Given the description of an element on the screen output the (x, y) to click on. 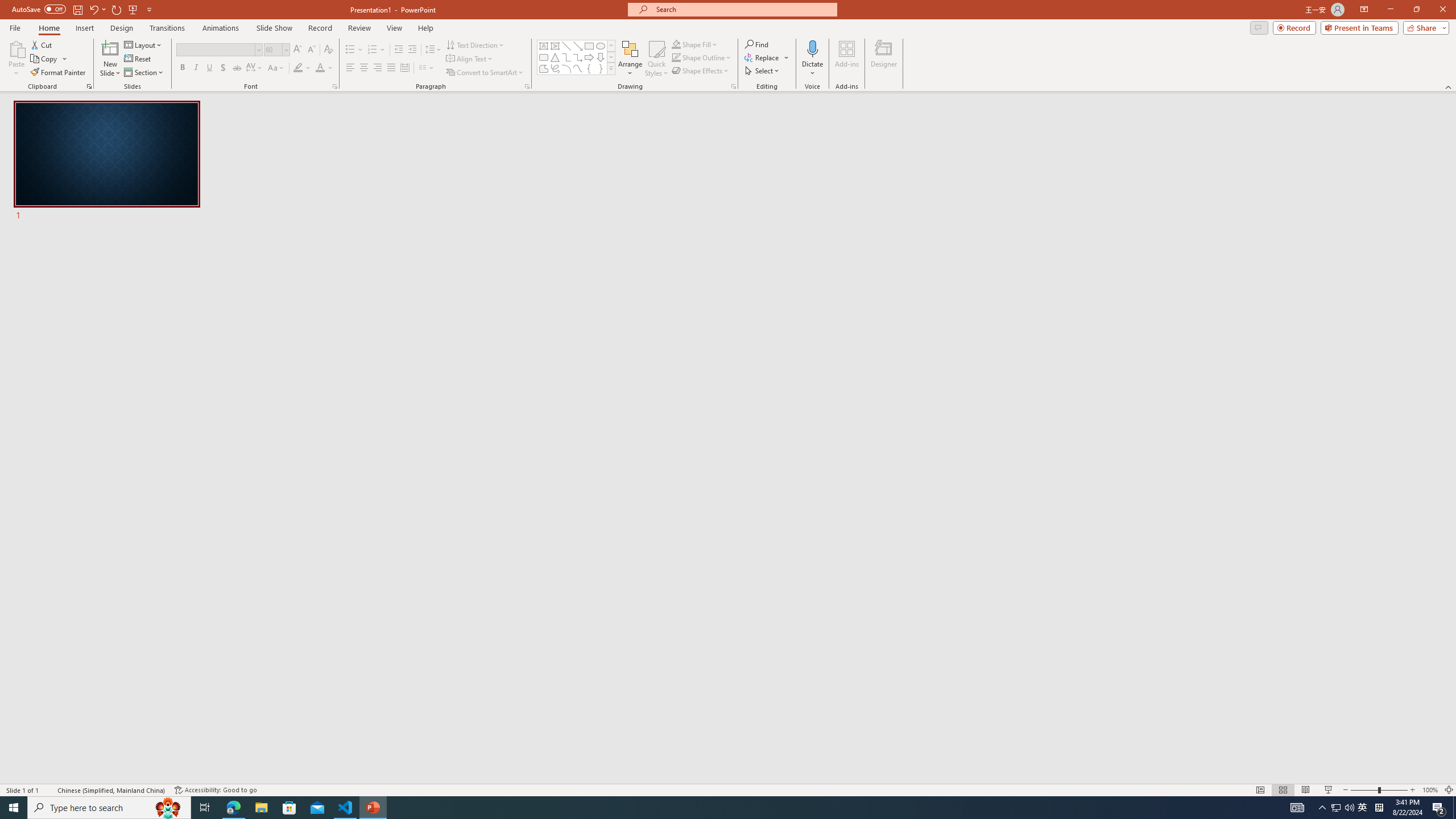
Change Case (276, 67)
Paragraph... (526, 85)
Convert to SmartArt (485, 72)
Text Highlight Color Yellow (297, 67)
Spell Check  (49, 790)
Reset (138, 58)
Connector: Elbow Arrow (577, 57)
Align Text (470, 58)
Zoom 100% (1430, 790)
Columns (426, 67)
Accessibility Checker Accessibility: Good to go (216, 790)
Arrange (630, 58)
Arrow: Down (600, 57)
